Given the description of an element on the screen output the (x, y) to click on. 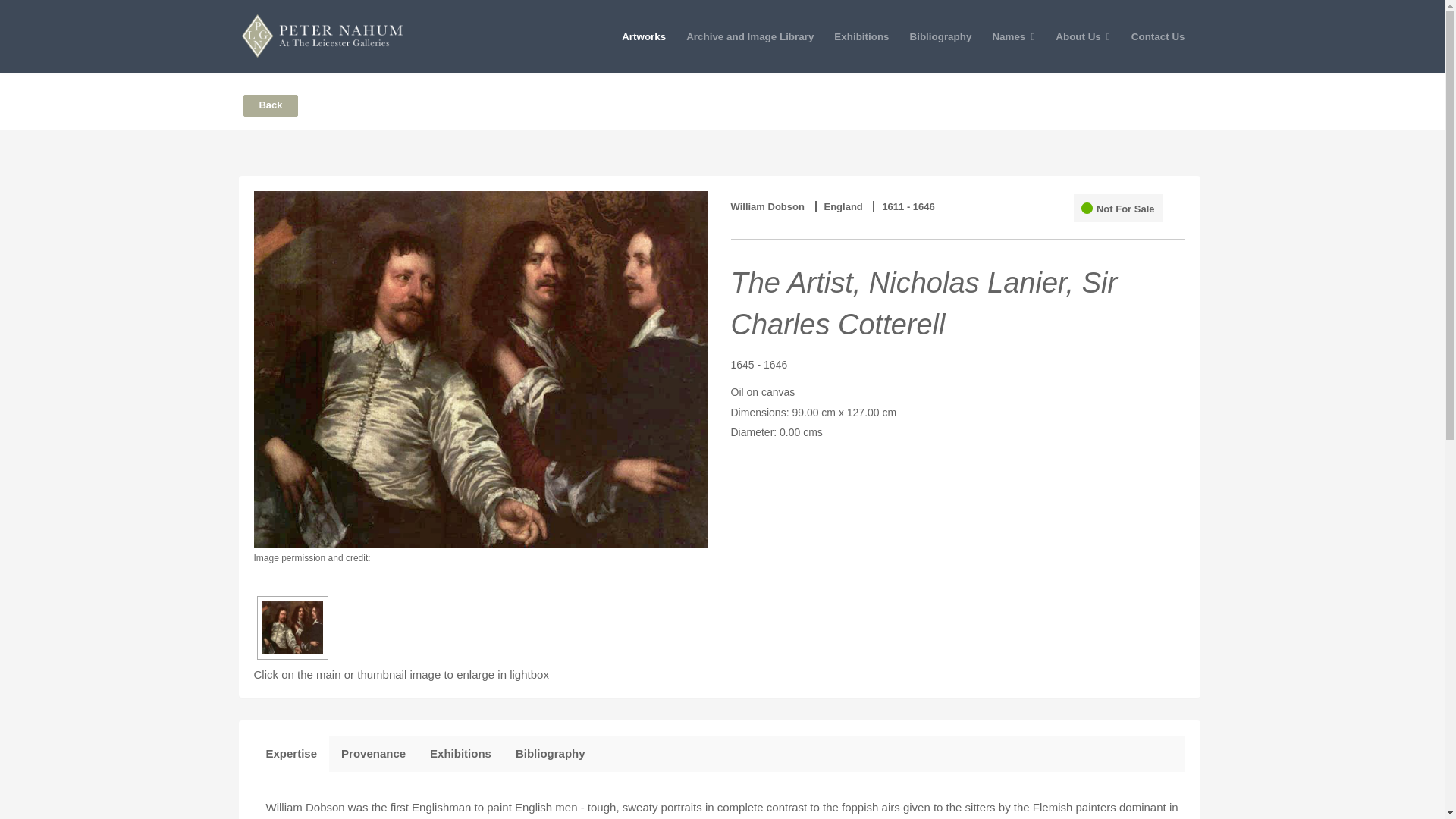
Bibliography (549, 753)
Back (270, 106)
Expertise (291, 753)
Archive and Image Library (749, 36)
Exhibitions (460, 753)
Contact Us (1157, 36)
About Us (1083, 36)
Names (1013, 36)
Artworks (643, 36)
Exhibitions (860, 36)
Provenance (373, 753)
Bibliography (940, 36)
